Given the description of an element on the screen output the (x, y) to click on. 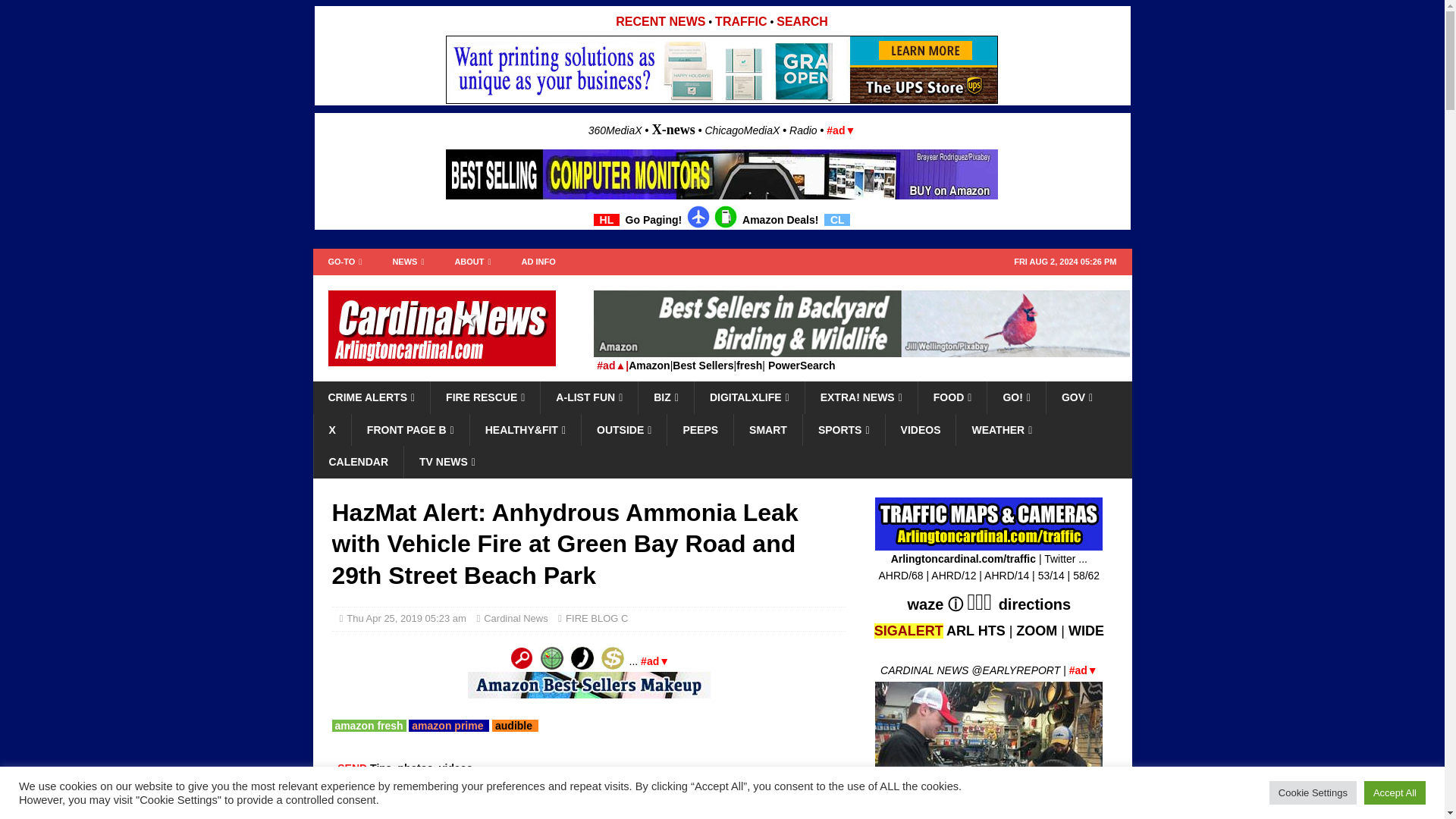
Radio (802, 130)
  HL   (607, 219)
RECENT NEWS (659, 21)
ChicagoMediaX (742, 130)
TRAFFIC (740, 21)
Go Paging! (654, 219)
360MediaX (616, 130)
SEARCH (802, 21)
  CL   (837, 219)
X-news (673, 129)
